Given the description of an element on the screen output the (x, y) to click on. 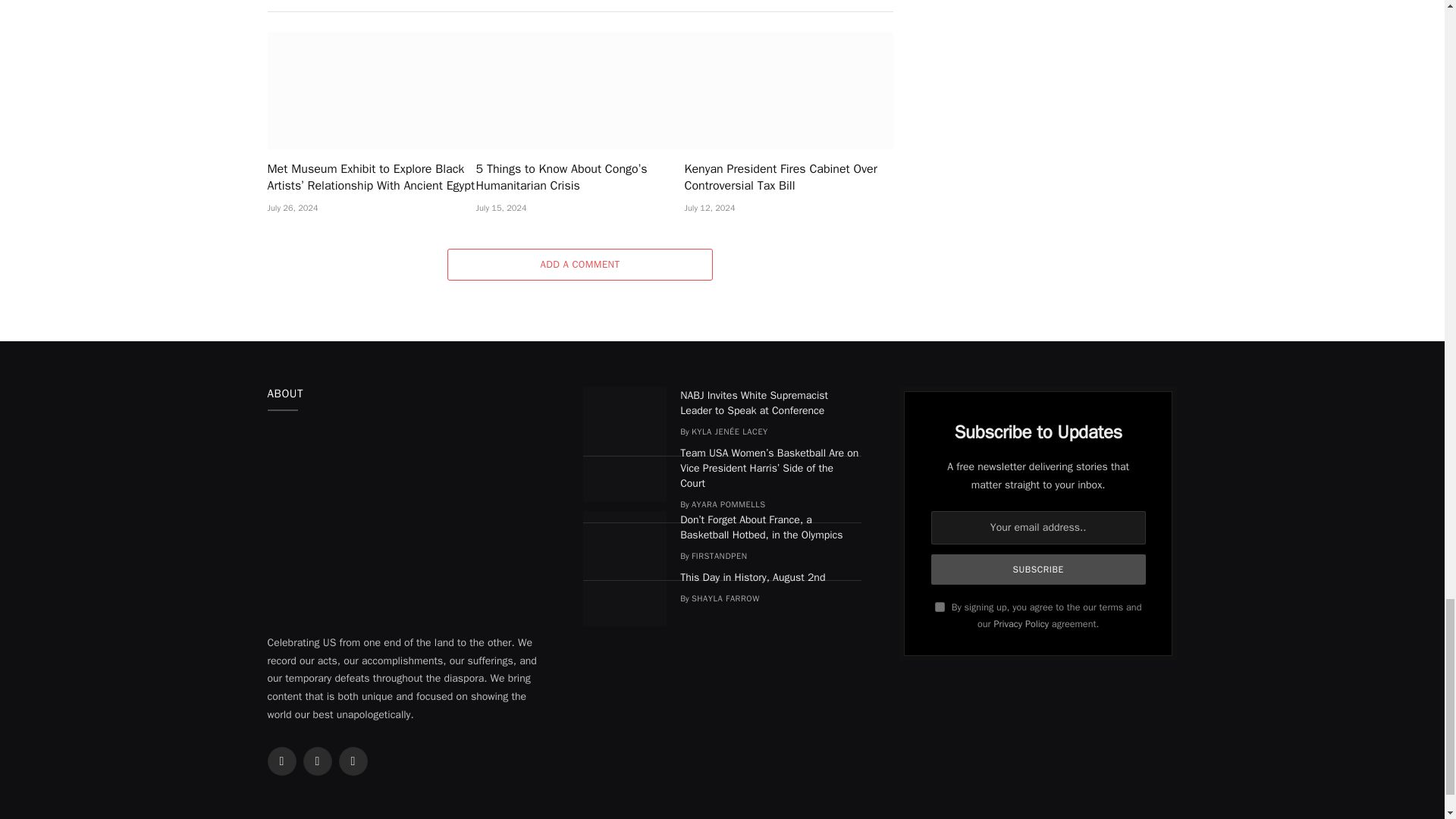
on (939, 606)
Subscribe (1038, 569)
